Given the description of an element on the screen output the (x, y) to click on. 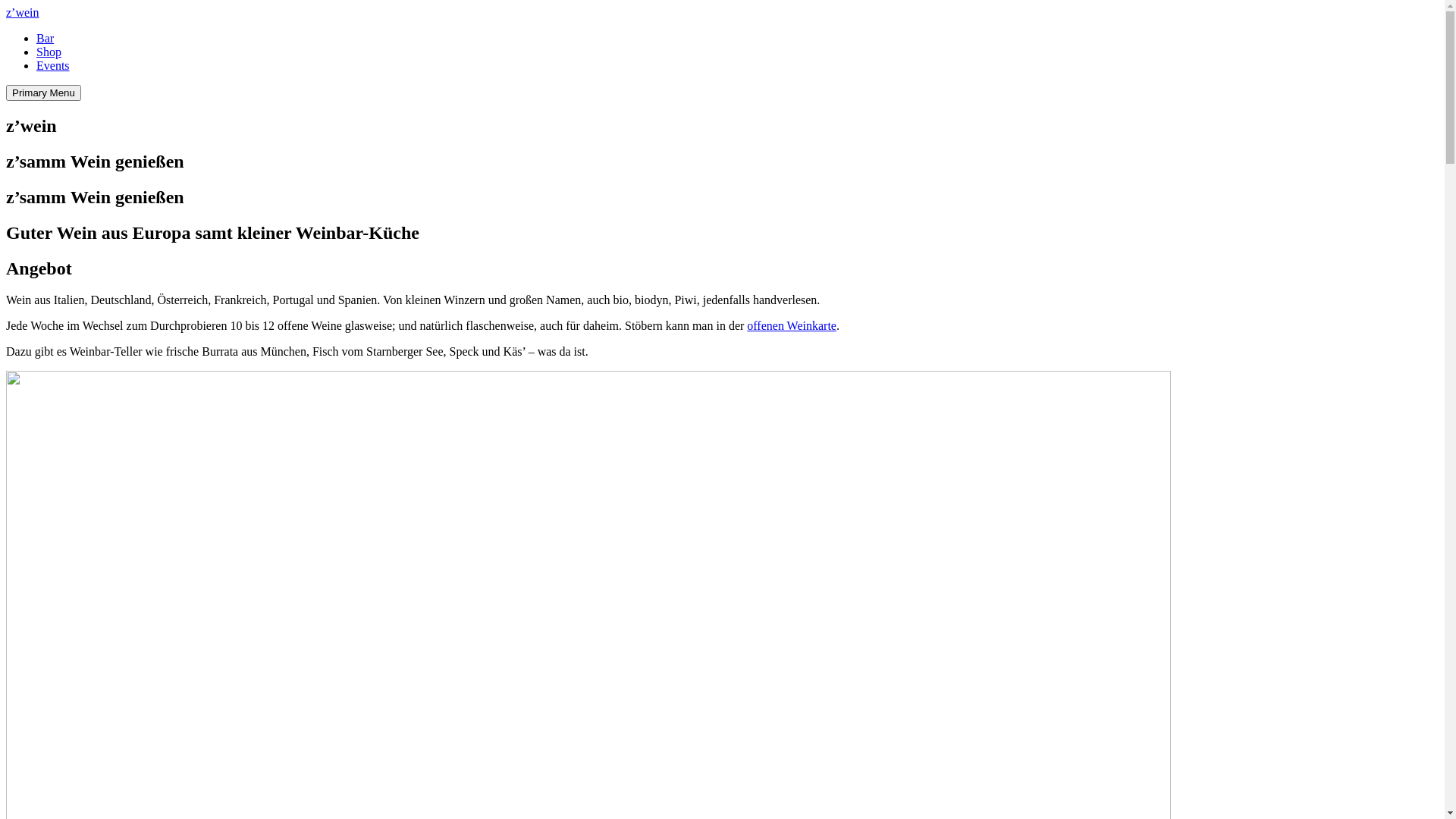
Events Element type: text (52, 65)
Bar Element type: text (44, 37)
offenen Weinkarte Element type: text (791, 325)
Primary Menu Element type: text (43, 92)
Shop Element type: text (48, 51)
